Given the description of an element on the screen output the (x, y) to click on. 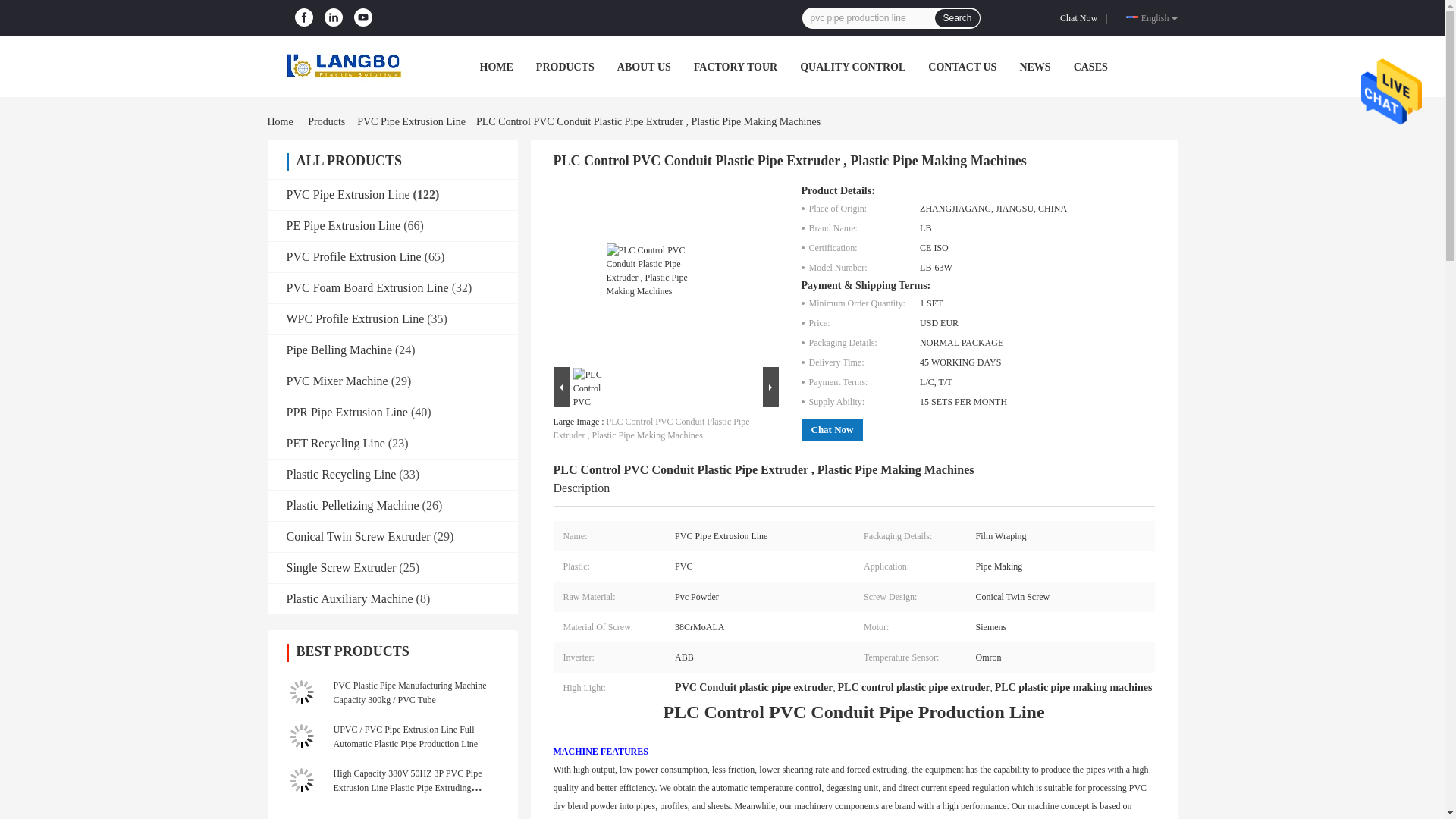
ABOUT US (644, 66)
Zhangjiagang Langbo Machinery Co. Ltd. LinkedIn (333, 17)
HOME (495, 66)
Search (956, 18)
PVC Pipe Extrusion Line (348, 194)
PVC Pipe Extrusion Line (410, 121)
Home (282, 121)
Zhangjiagang Langbo Machinery Co. Ltd. Facebook (303, 17)
Products (325, 121)
CASES (1091, 66)
